Given the description of an element on the screen output the (x, y) to click on. 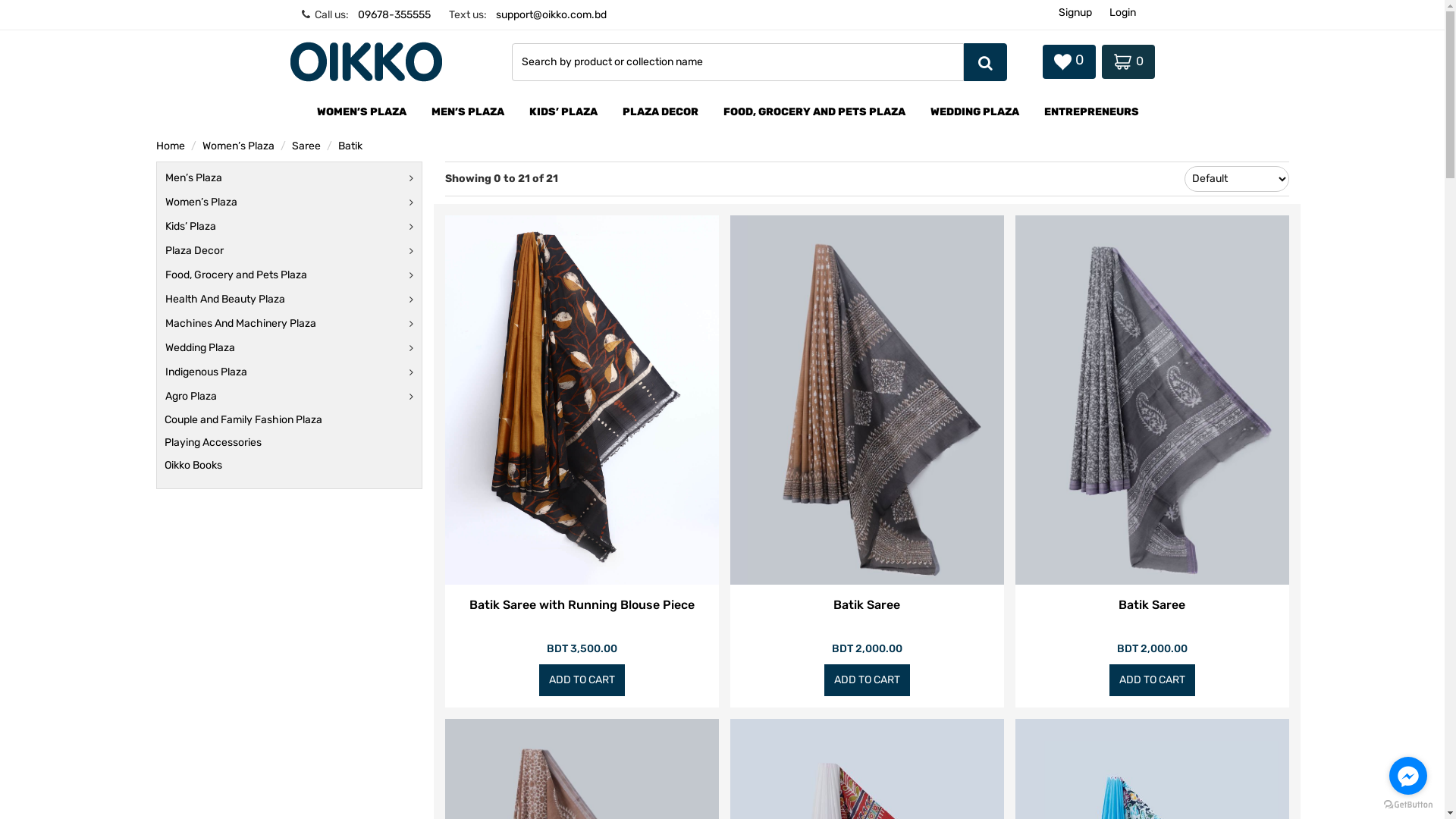
Batik Element type: text (350, 145)
Batik Saree Element type: text (866, 614)
ADD TO CART Element type: text (866, 680)
Batik Saree Element type: text (1151, 614)
FOOD, GROCERY AND PETS PLAZA Element type: text (814, 112)
Playing Accessories Element type: text (211, 442)
PLAZA DECOR Element type: text (660, 112)
0 Element type: text (1068, 61)
Oikko Books Element type: text (192, 464)
Wedding Plaza Element type: text (200, 347)
Home Element type: text (170, 145)
Indigenous Plaza Element type: text (206, 371)
Health And Beauty Plaza Element type: text (225, 299)
Agro Plaza Element type: text (190, 396)
09678-355555 Element type: text (393, 14)
ADD TO CART Element type: text (581, 680)
Food, Grocery and Pets Plaza Element type: text (236, 274)
ADD TO CART Element type: text (1151, 680)
Batik Saree with Running Blouse Piece Element type: text (580, 614)
Couple and Family Fashion Plaza Element type: text (242, 419)
Plaza Decor Element type: text (194, 250)
support@oikko.com.bd Element type: text (550, 14)
Saree Element type: text (305, 145)
Machines And Machinery Plaza Element type: text (240, 323)
ENTREPRENEURS Element type: text (1091, 112)
WEDDING PLAZA Element type: text (974, 112)
